Given the description of an element on the screen output the (x, y) to click on. 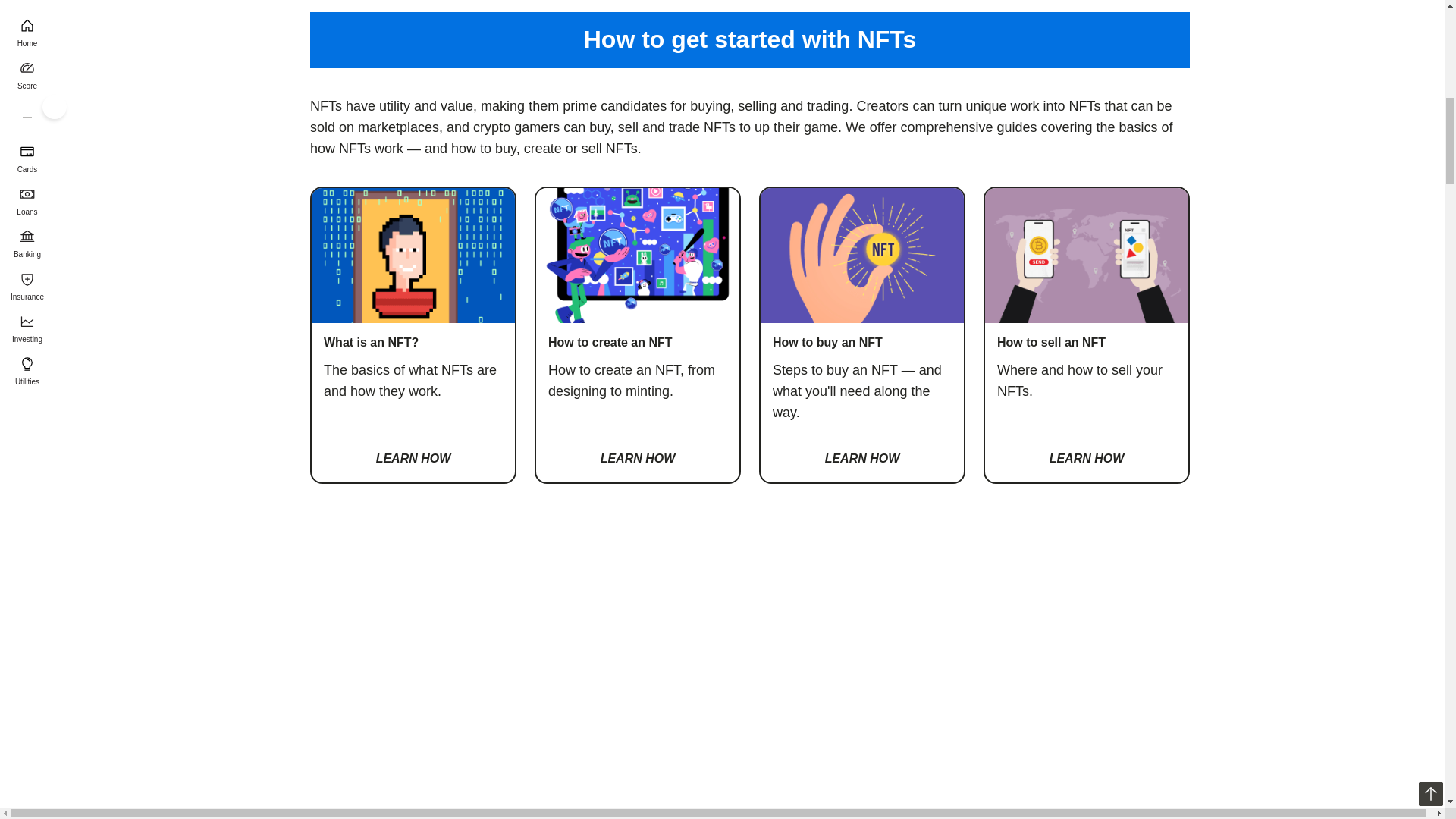
How to buy an NFT (861, 458)
How to make NFTs (637, 458)
What is an NFT (413, 458)
